Given the description of an element on the screen output the (x, y) to click on. 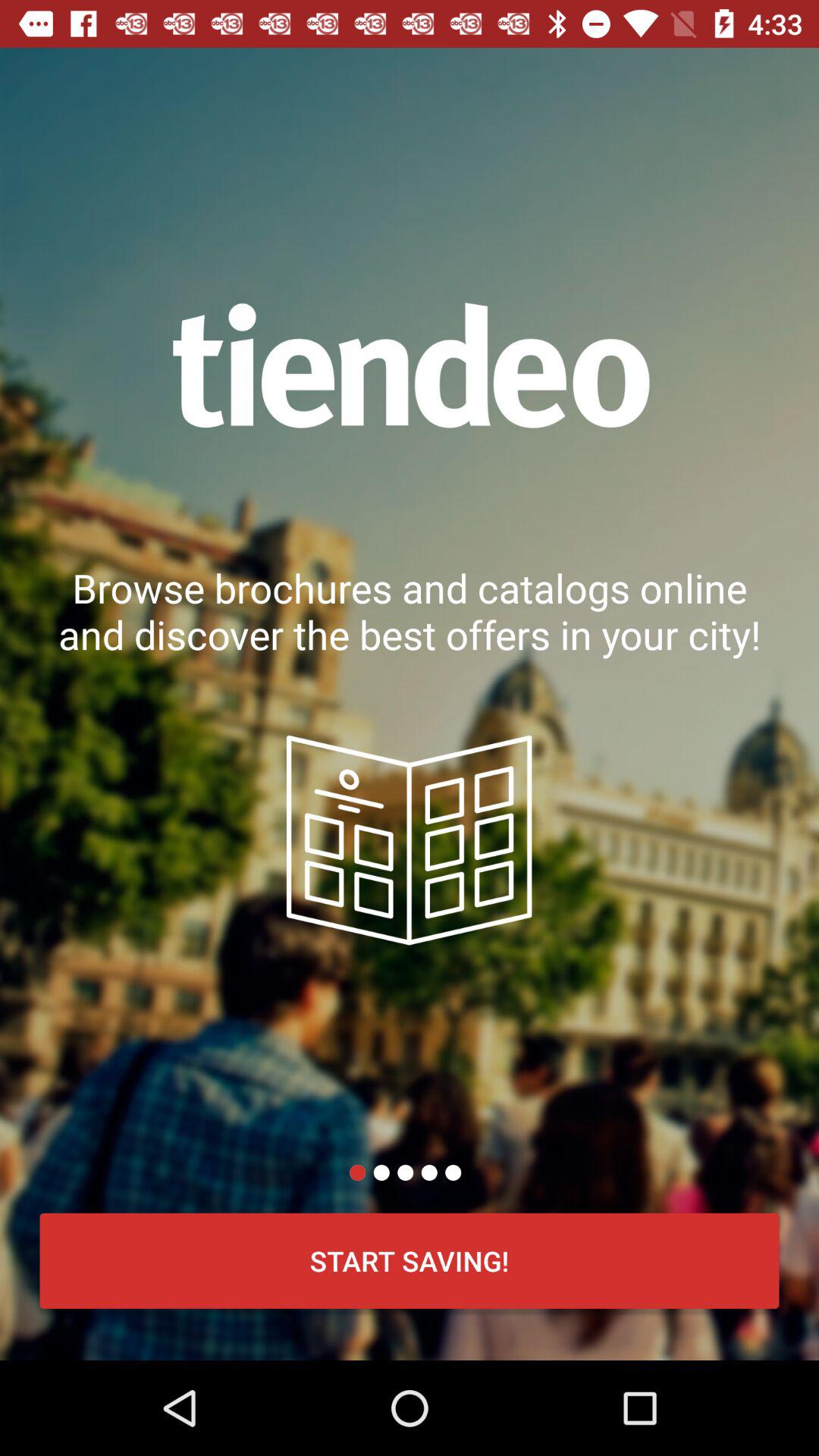
scroll until the start saving! item (409, 1260)
